Given the description of an element on the screen output the (x, y) to click on. 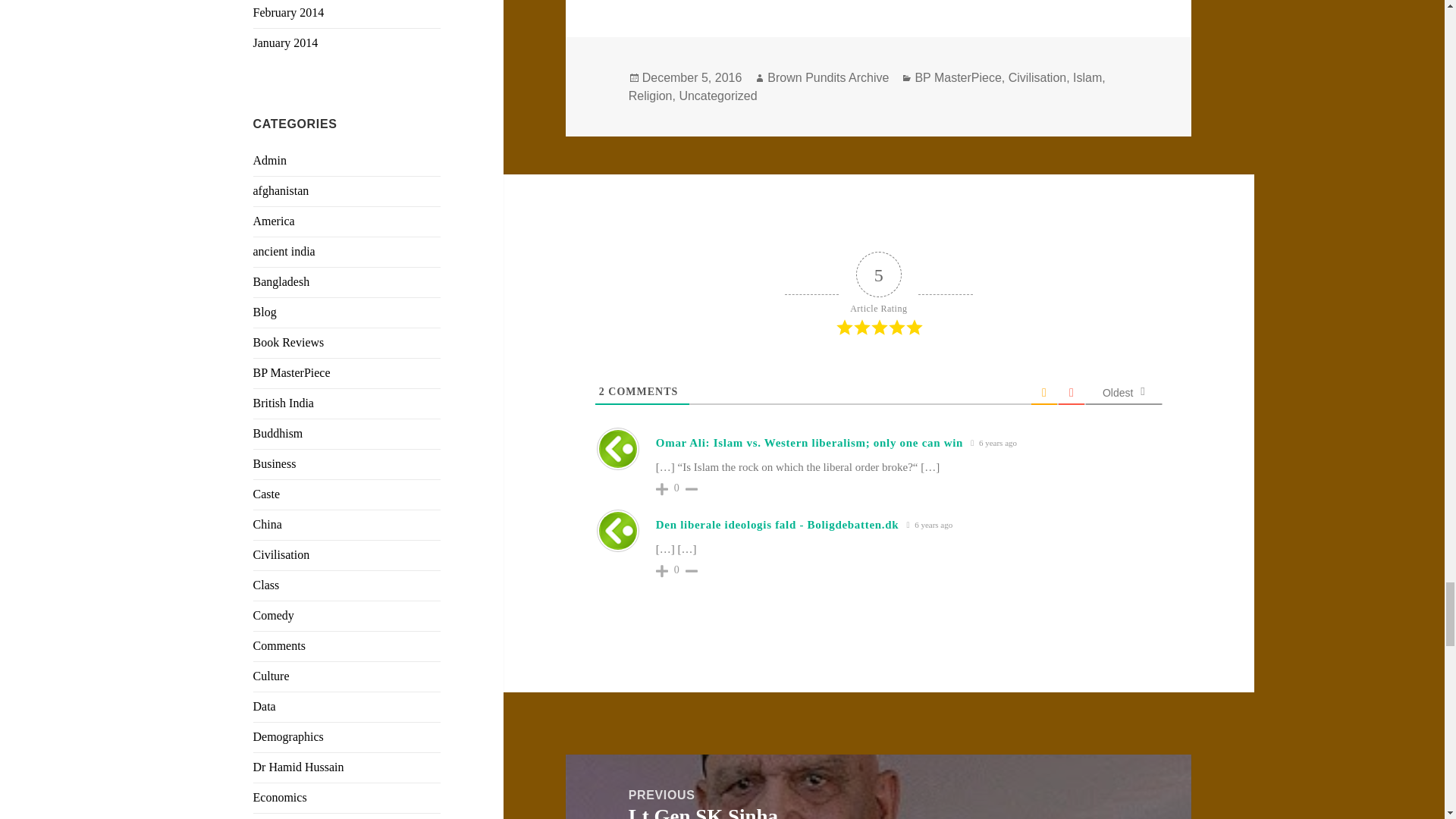
0 (676, 488)
November 14, 2017 8:04 am (993, 442)
November 14, 2017 10:22 am (929, 524)
0 (676, 570)
